Given the description of an element on the screen output the (x, y) to click on. 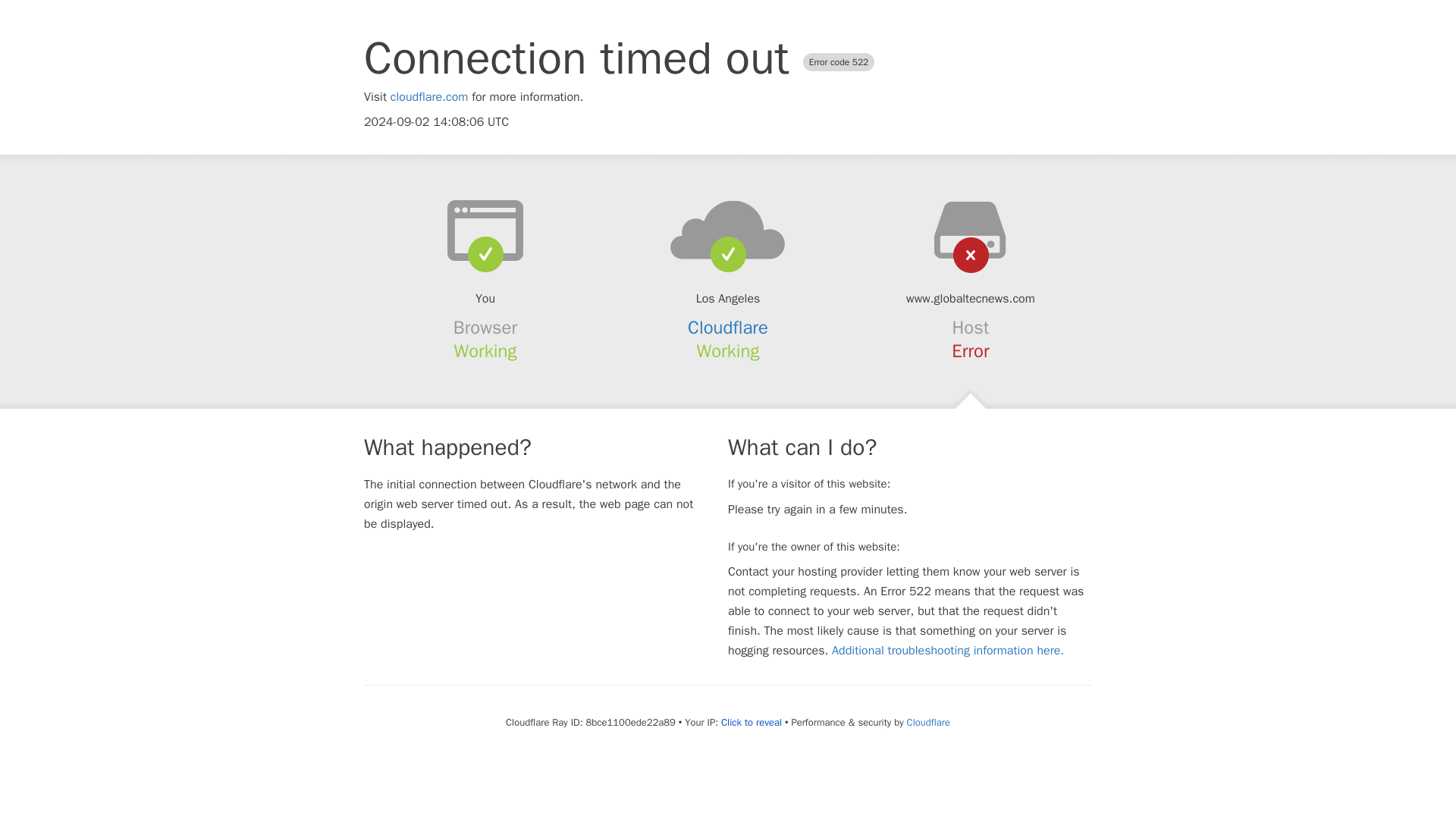
Cloudflare (928, 721)
Additional troubleshooting information here. (947, 650)
Click to reveal (750, 722)
cloudflare.com (429, 96)
Cloudflare (727, 327)
